Given the description of an element on the screen output the (x, y) to click on. 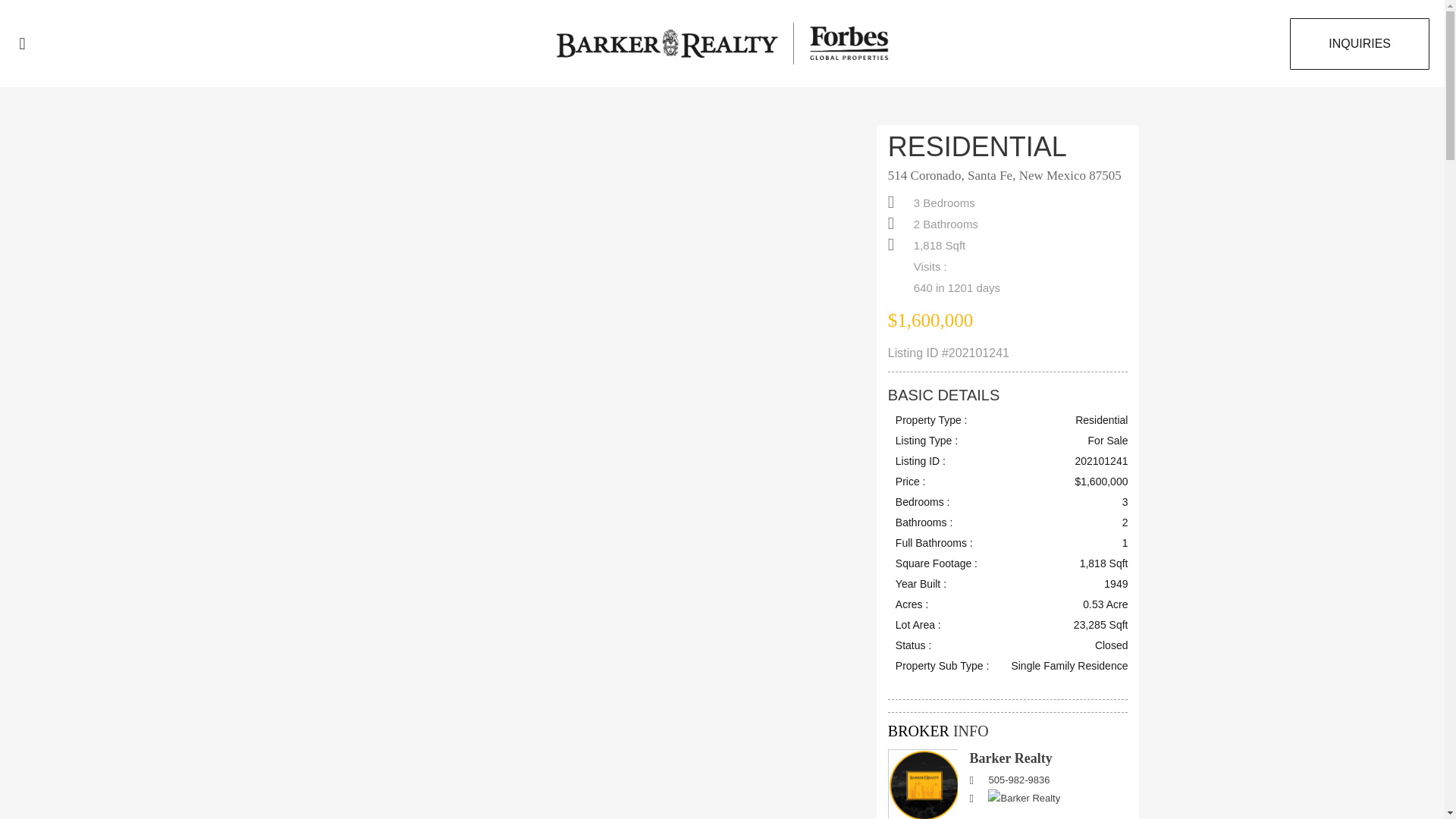
INQUIRIES (1359, 43)
